Given the description of an element on the screen output the (x, y) to click on. 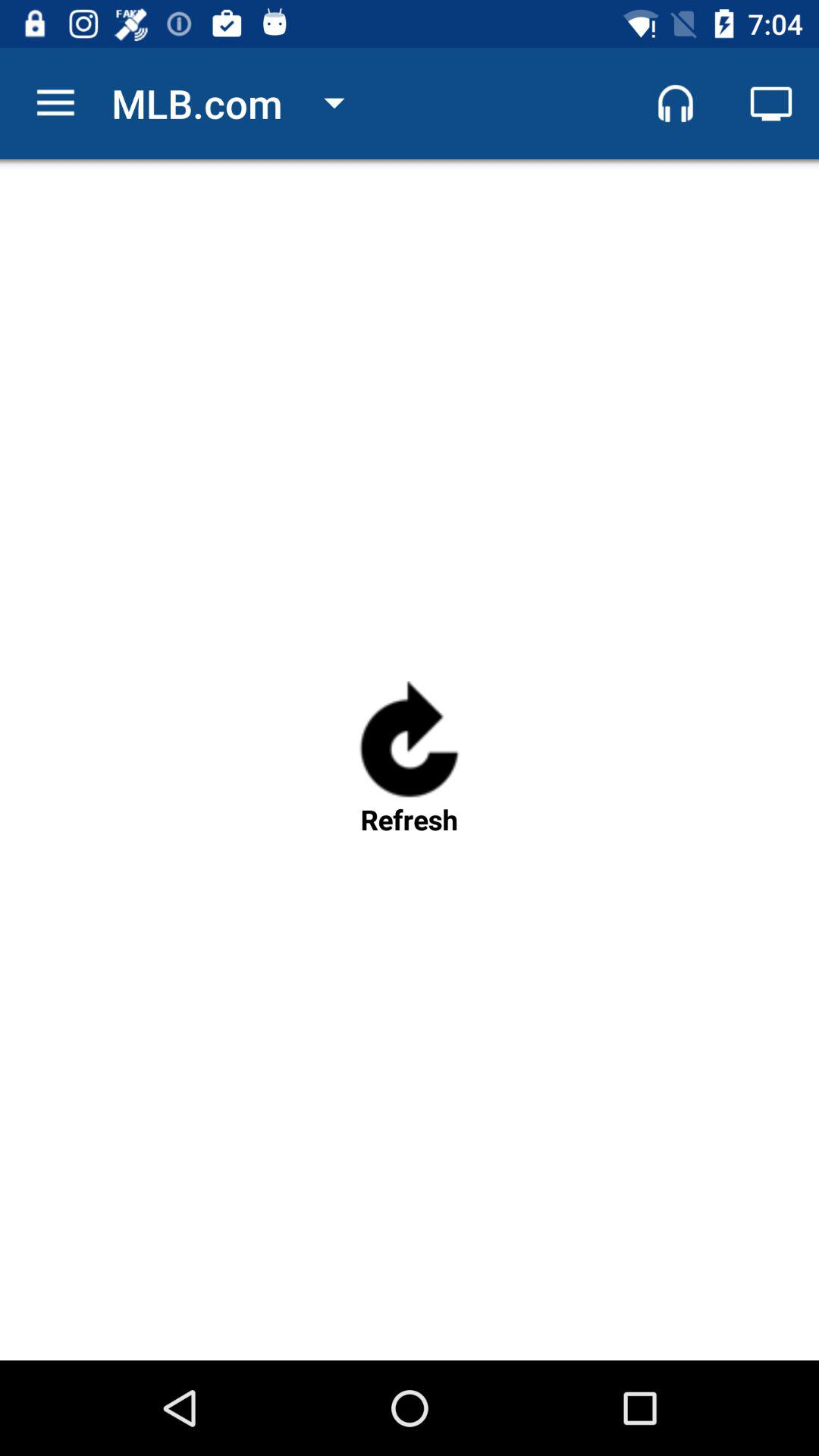
click item to the left of mlb.com icon (55, 103)
